Given the description of an element on the screen output the (x, y) to click on. 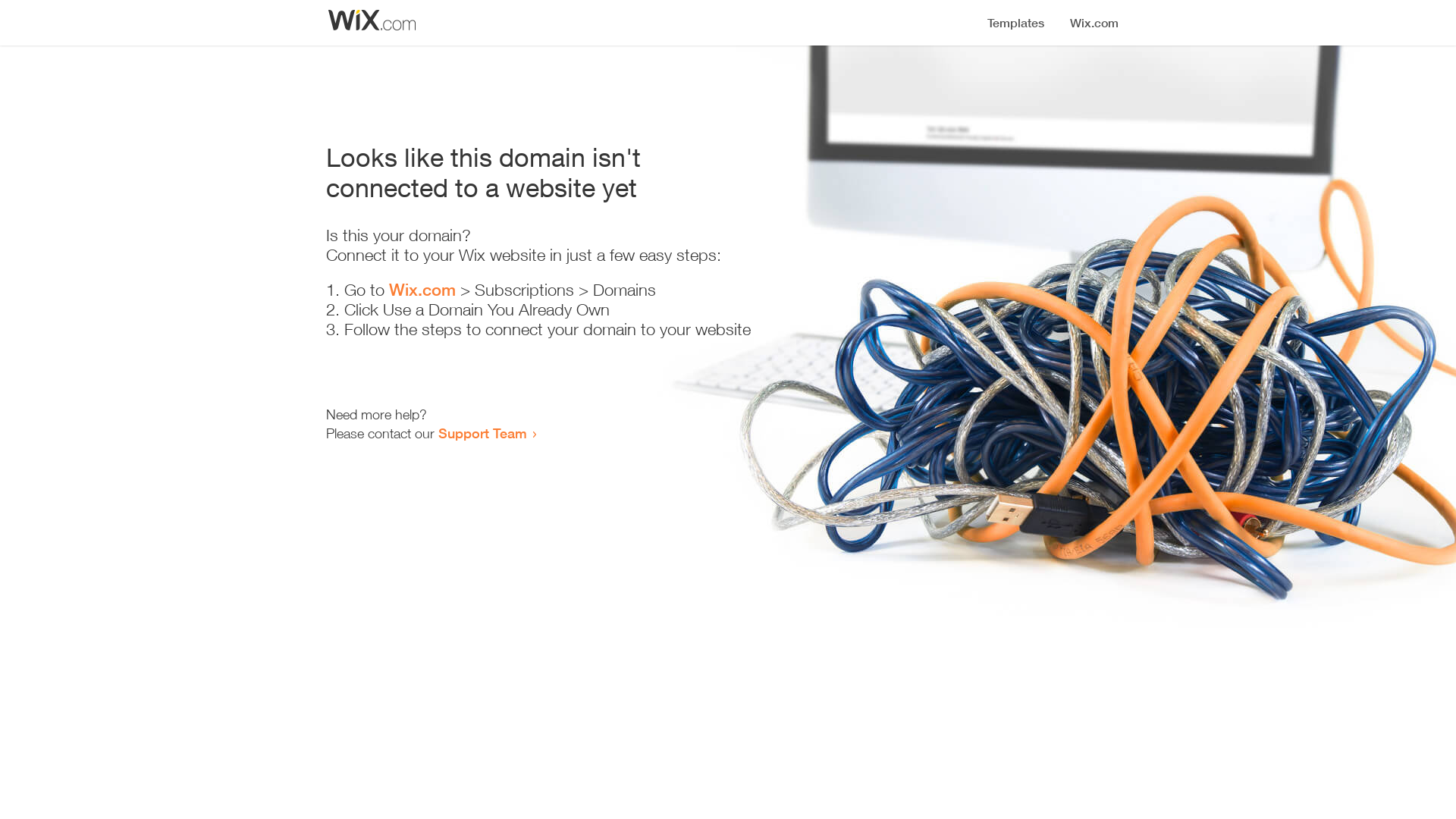
Wix.com Element type: text (422, 289)
Support Team Element type: text (482, 432)
